Given the description of an element on the screen output the (x, y) to click on. 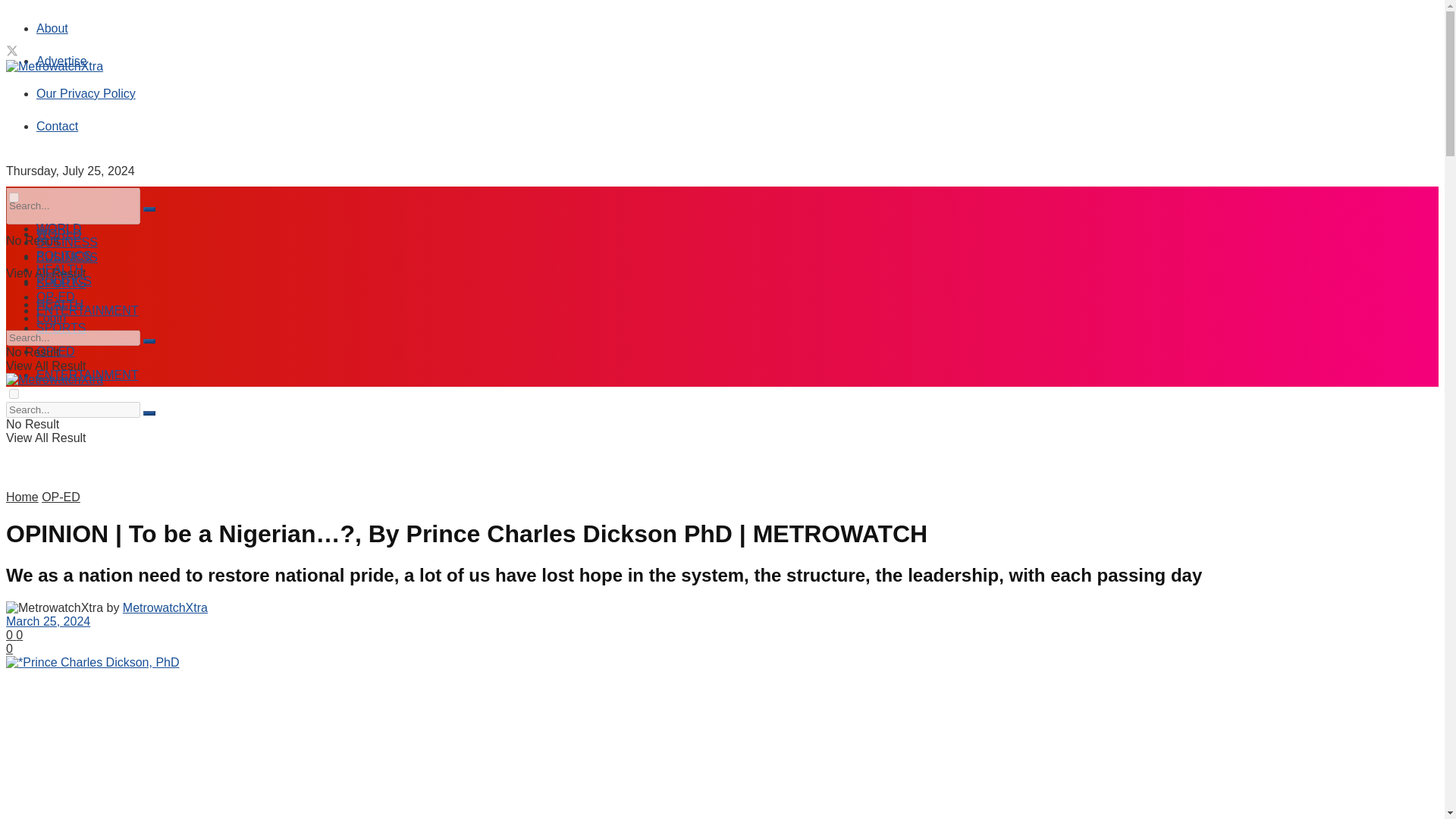
ENTERTAINMENT (87, 374)
SPORTS (60, 327)
on (13, 197)
on (13, 393)
BUSINESS (66, 256)
BUSINESS (66, 241)
March 25, 2024 (47, 621)
OP-ED (55, 296)
ENTERTAINMENT (87, 309)
0 (9, 648)
OP-ED (55, 350)
About (52, 28)
0 (10, 634)
0 (19, 634)
Advertise (61, 60)
